Given the description of an element on the screen output the (x, y) to click on. 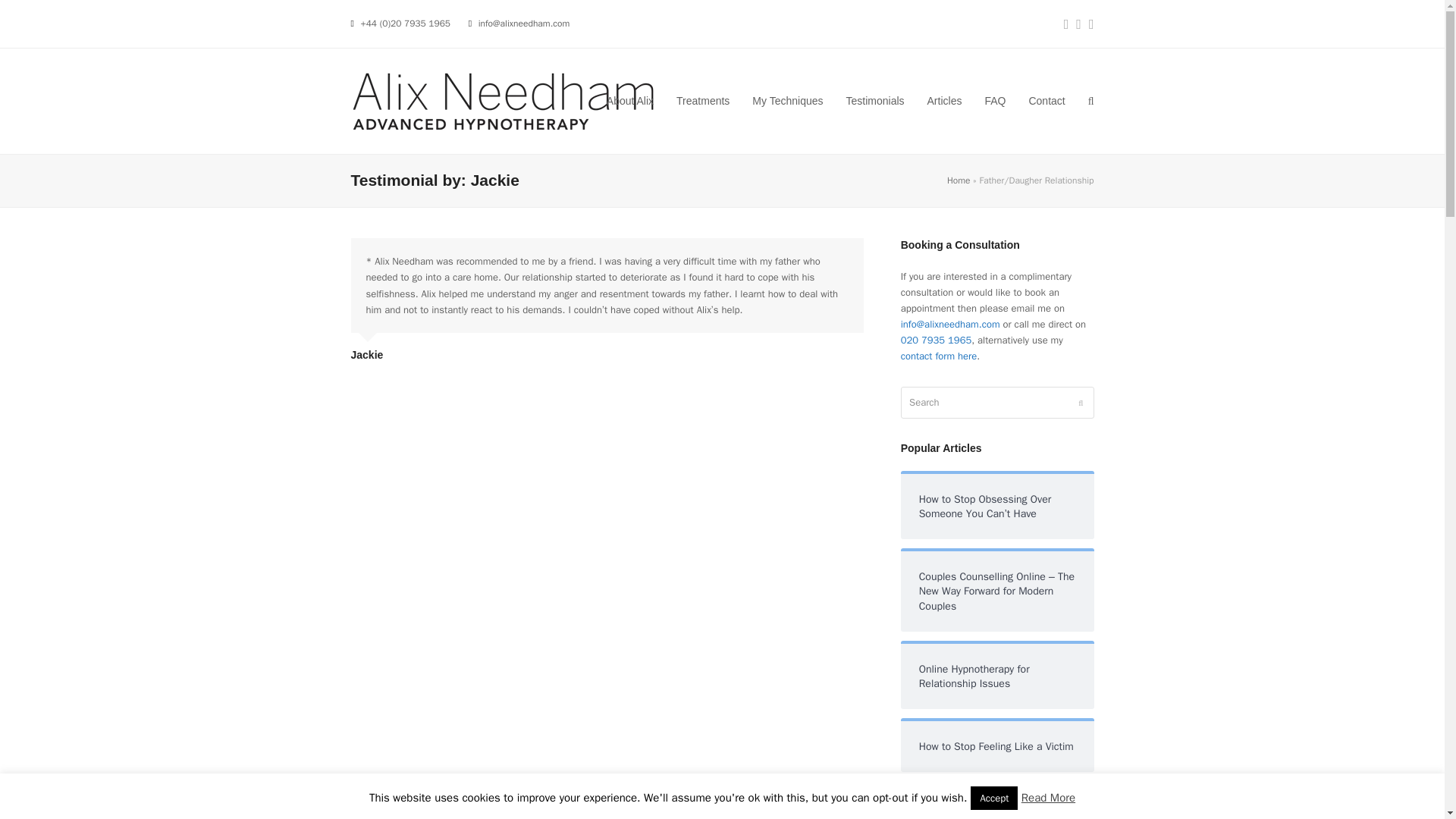
Treatments (703, 101)
About Alix (630, 101)
My Techniques (787, 101)
Testimonials (874, 101)
